Given the description of an element on the screen output the (x, y) to click on. 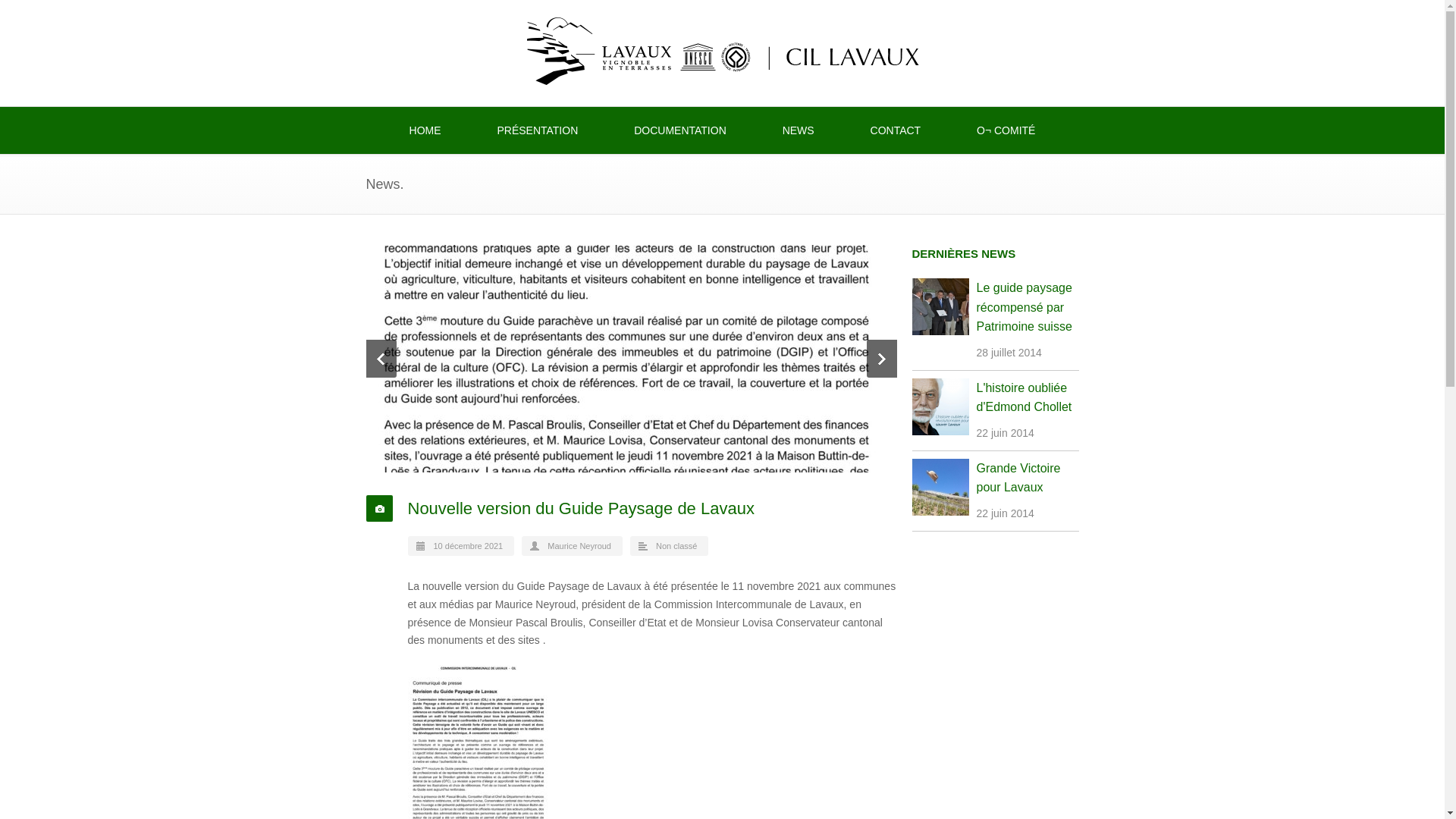
HOME Element type: text (425, 129)
Maurice Neyroud Element type: text (579, 545)
Grande Victoire pour Lavaux Element type: text (1018, 477)
Previous Element type: text (380, 358)
Next Element type: text (881, 358)
Grande Victoire pour Lavaux Element type: hover (939, 489)
NEWS Element type: text (798, 129)
CONTACT Element type: text (895, 129)
DOCUMENTATION Element type: text (679, 129)
